Given the description of an element on the screen output the (x, y) to click on. 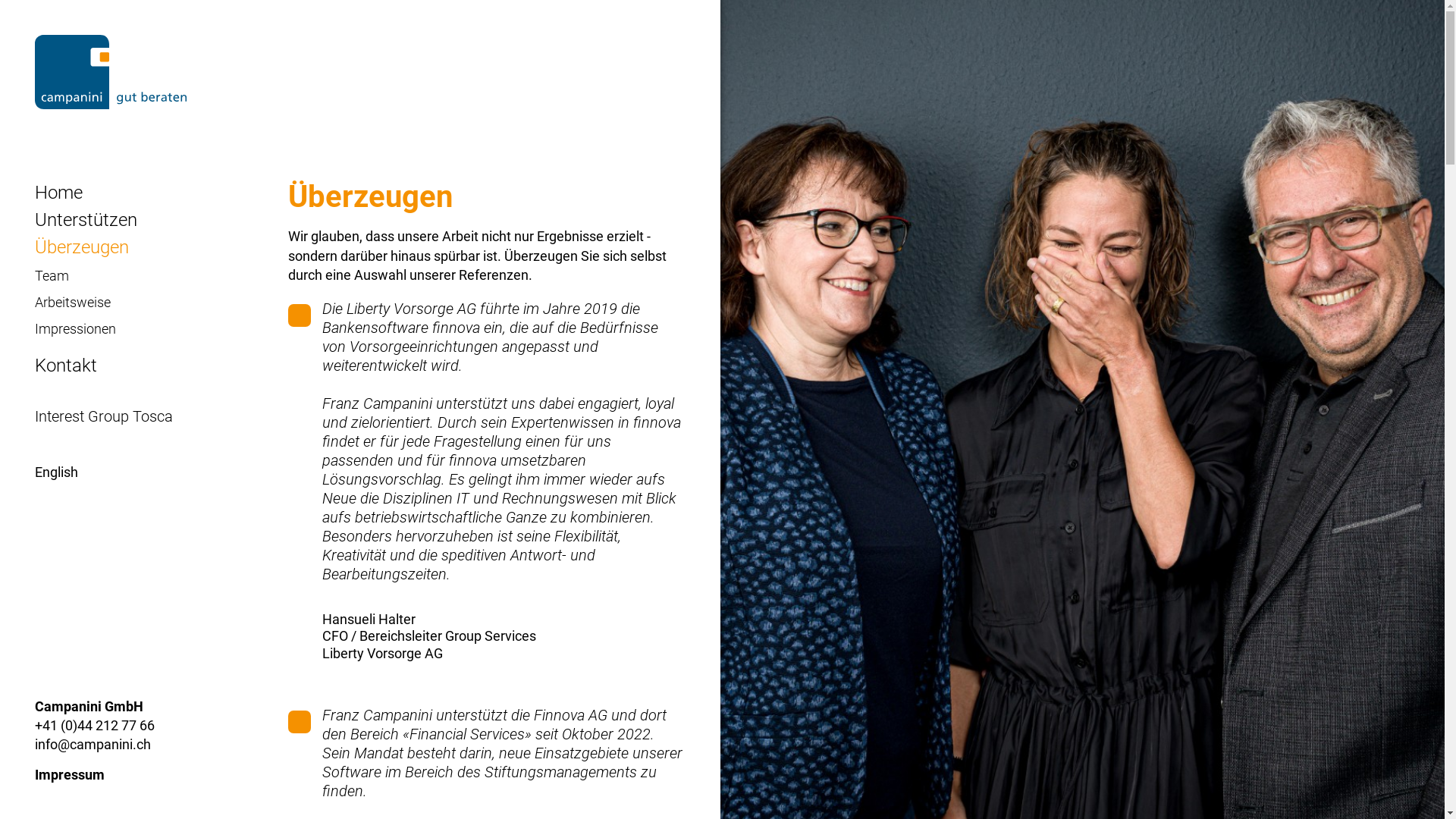
Home Element type: text (69, 192)
Impressionen Element type: text (86, 328)
info@campanini.ch Element type: text (92, 744)
Kontakt Element type: text (76, 365)
Interest Group Tosca Element type: text (114, 415)
Team Element type: text (62, 275)
English Element type: text (62, 471)
Impressum Element type: text (69, 774)
Arbeitsweise Element type: text (83, 301)
